Given the description of an element on the screen output the (x, y) to click on. 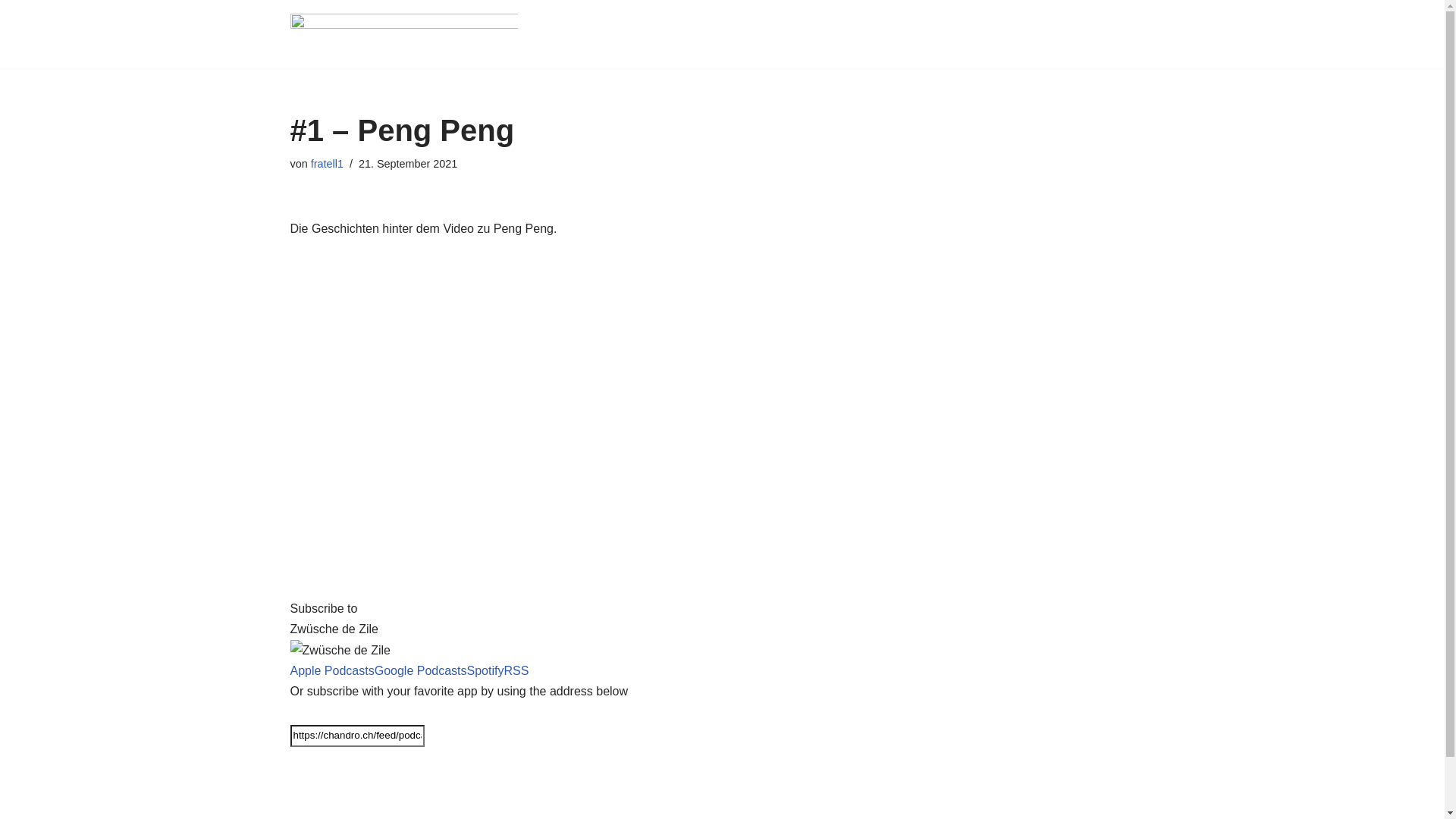
Apple Podcasts Element type: text (331, 670)
Spotify Element type: text (485, 670)
Google Podcasts Element type: text (420, 670)
https://chandro.ch/feed/podcast/ Element type: text (356, 735)
CHANDRO - PENG PENG (Official Video) Element type: hover (588, 429)
Chandro Element type: hover (403, 33)
Zum Inhalt Element type: text (11, 31)
fratell1 Element type: text (326, 163)
RSS Element type: text (515, 670)
